Given the description of an element on the screen output the (x, y) to click on. 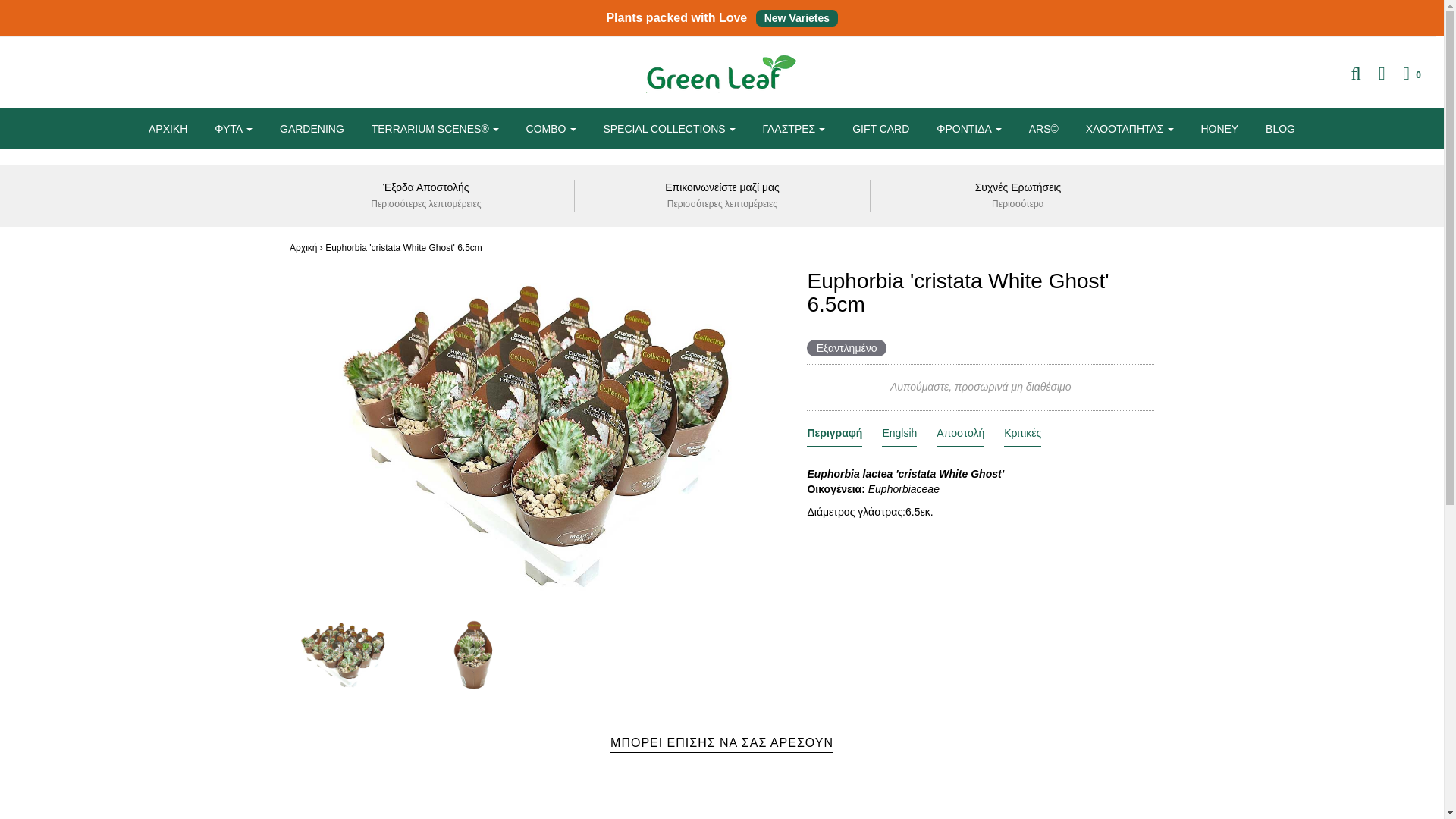
Euphorbia lactea 'cristata White Ghost'  6.5cm (342, 653)
Euphorbia lactea 'cristata White Ghost'  6.5cm (1404, 73)
